Given the description of an element on the screen output the (x, y) to click on. 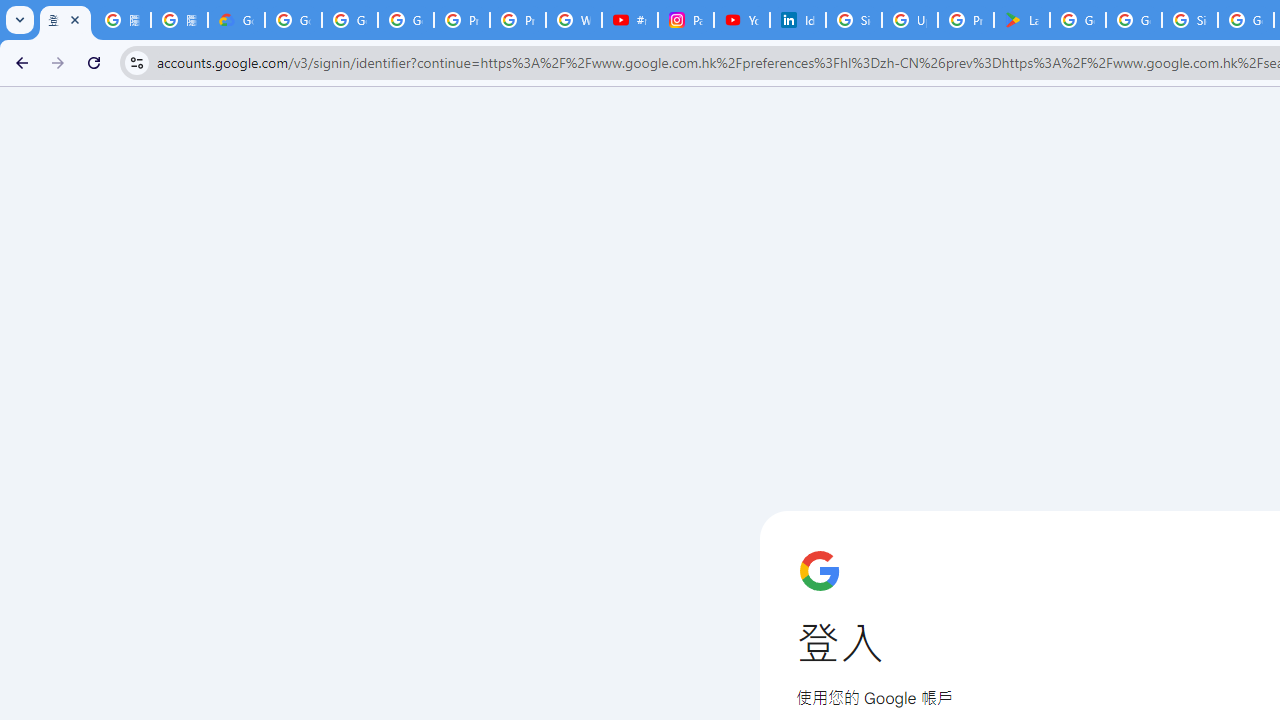
YouTube Culture & Trends - On The Rise: Handcam Videos (742, 20)
Sign in - Google Accounts (1190, 20)
Identity verification via Persona | LinkedIn Help (797, 20)
